Given the description of an element on the screen output the (x, y) to click on. 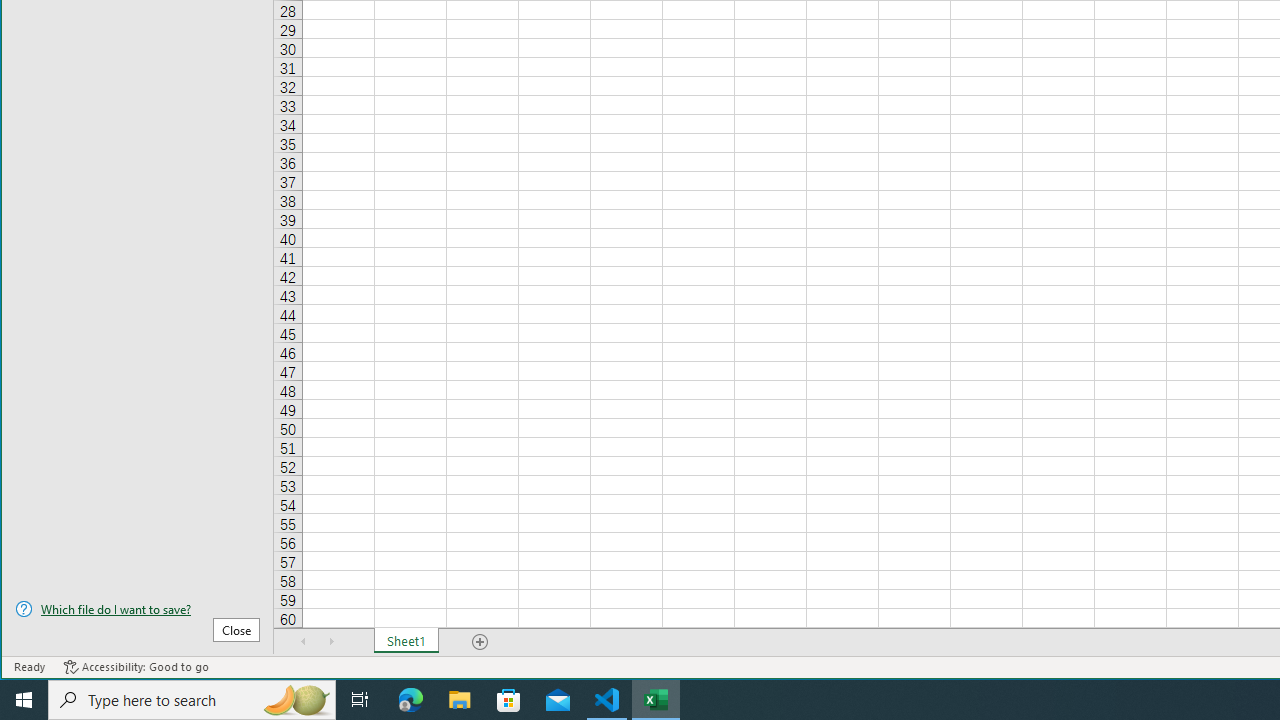
Search highlights icon opens search home window (295, 699)
